Given the description of an element on the screen output the (x, y) to click on. 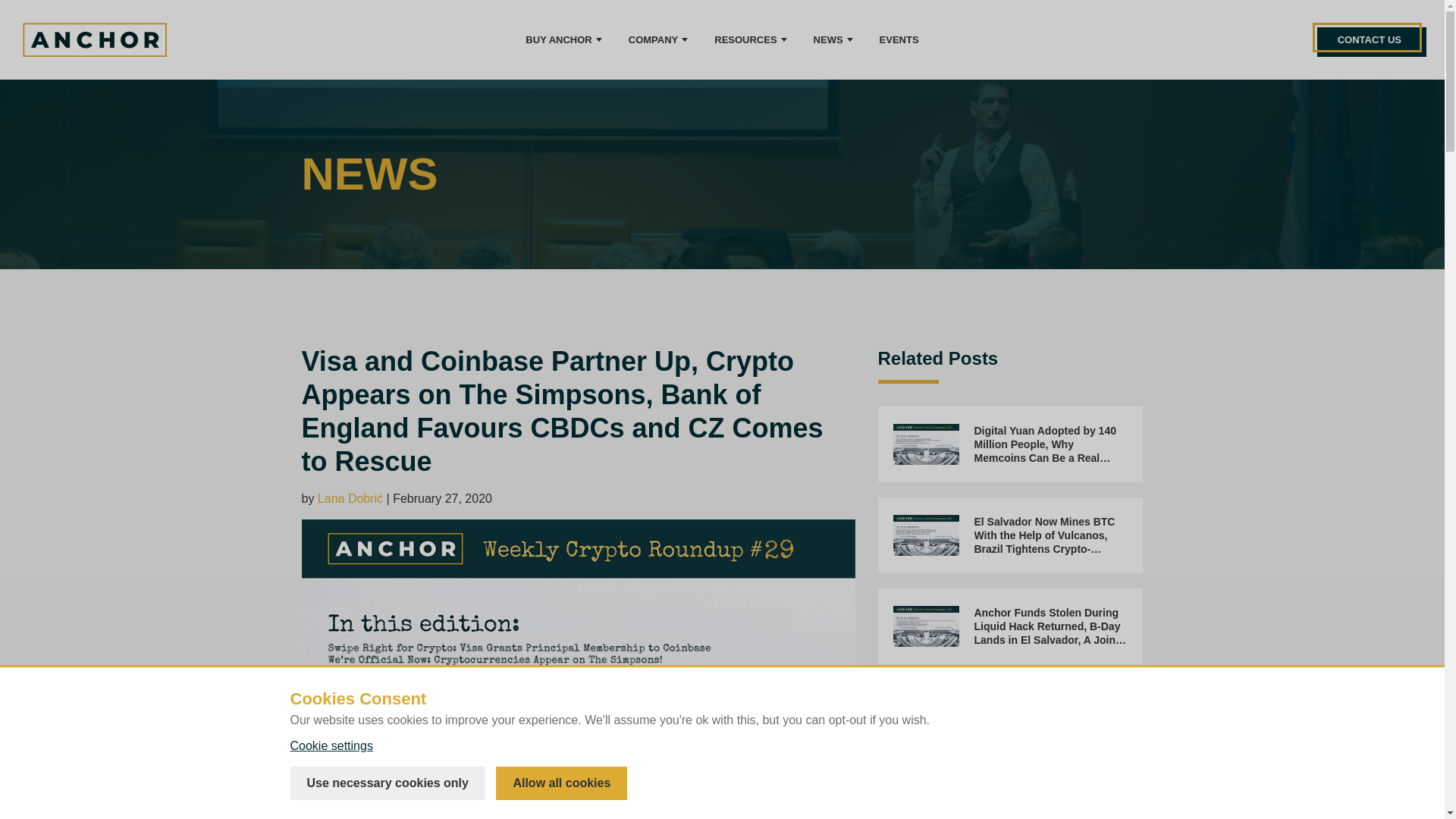
COMPANY (655, 39)
BUY ANCHOR (561, 39)
